Given the description of an element on the screen output the (x, y) to click on. 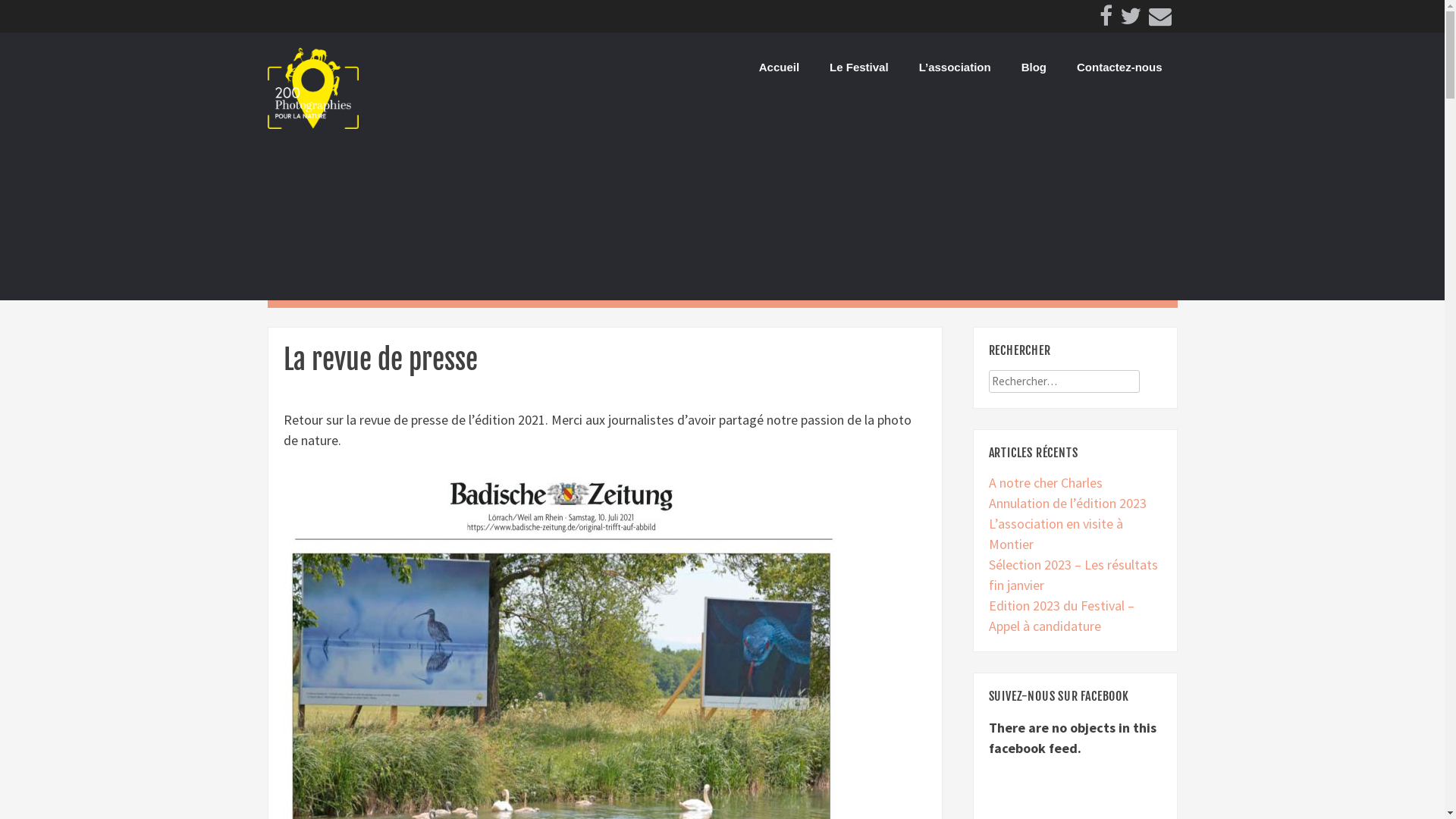
A notre cher Charles Element type: text (1045, 482)
Blog Element type: text (1033, 67)
Accueil Element type: text (778, 67)
Rechercher Element type: text (57, 20)
Contactez-nous Element type: text (1119, 67)
Le Festival Element type: text (858, 67)
